Given the description of an element on the screen output the (x, y) to click on. 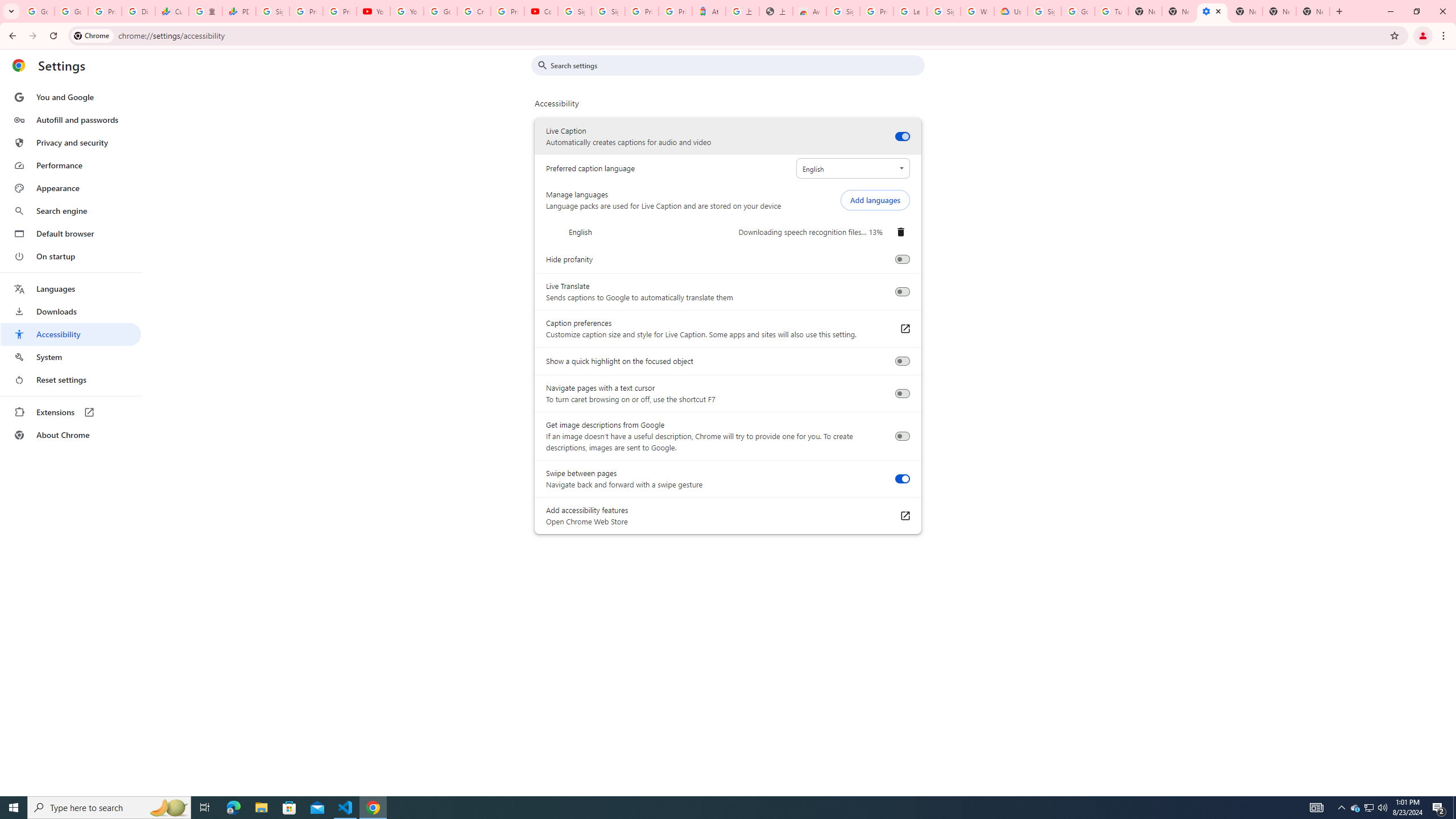
Who are Google's partners? - Privacy and conditions - Google (976, 11)
New Tab (1313, 11)
Atour Hotel - Google hotels (708, 11)
Sign in - Google Accounts (943, 11)
Extensions (70, 412)
Show a quick highlight on the focused object (901, 361)
AutomationID: menu (71, 265)
Currencies - Google Finance (171, 11)
PDD Holdings Inc - ADR (PDD) Price & News - Google Finance (238, 11)
Sign in - Google Accounts (608, 11)
